Given the description of an element on the screen output the (x, y) to click on. 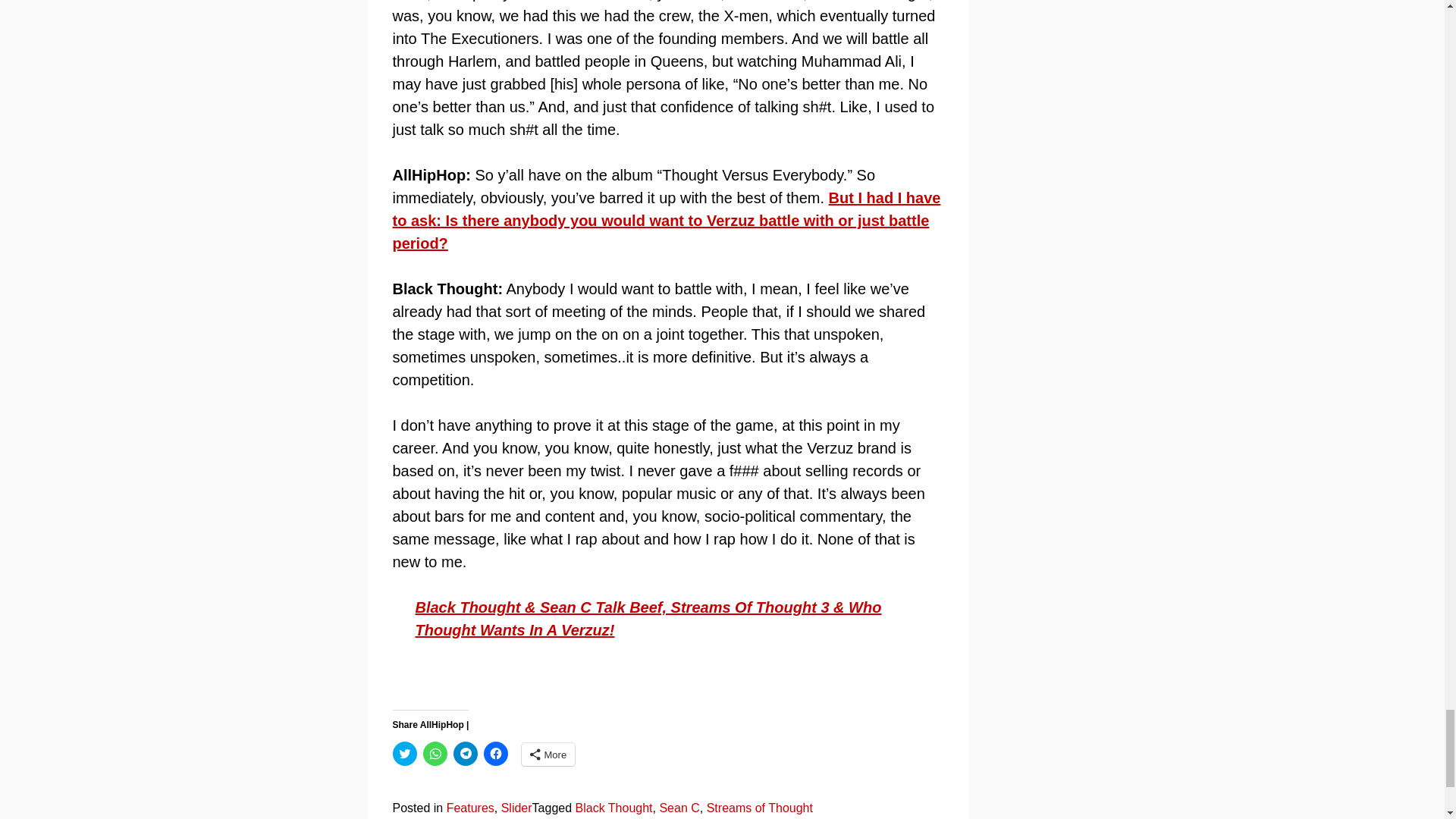
Click to share on WhatsApp (434, 753)
Click to share on Facebook (495, 753)
Click to share on Telegram (464, 753)
Click to share on Twitter (404, 753)
